Given the description of an element on the screen output the (x, y) to click on. 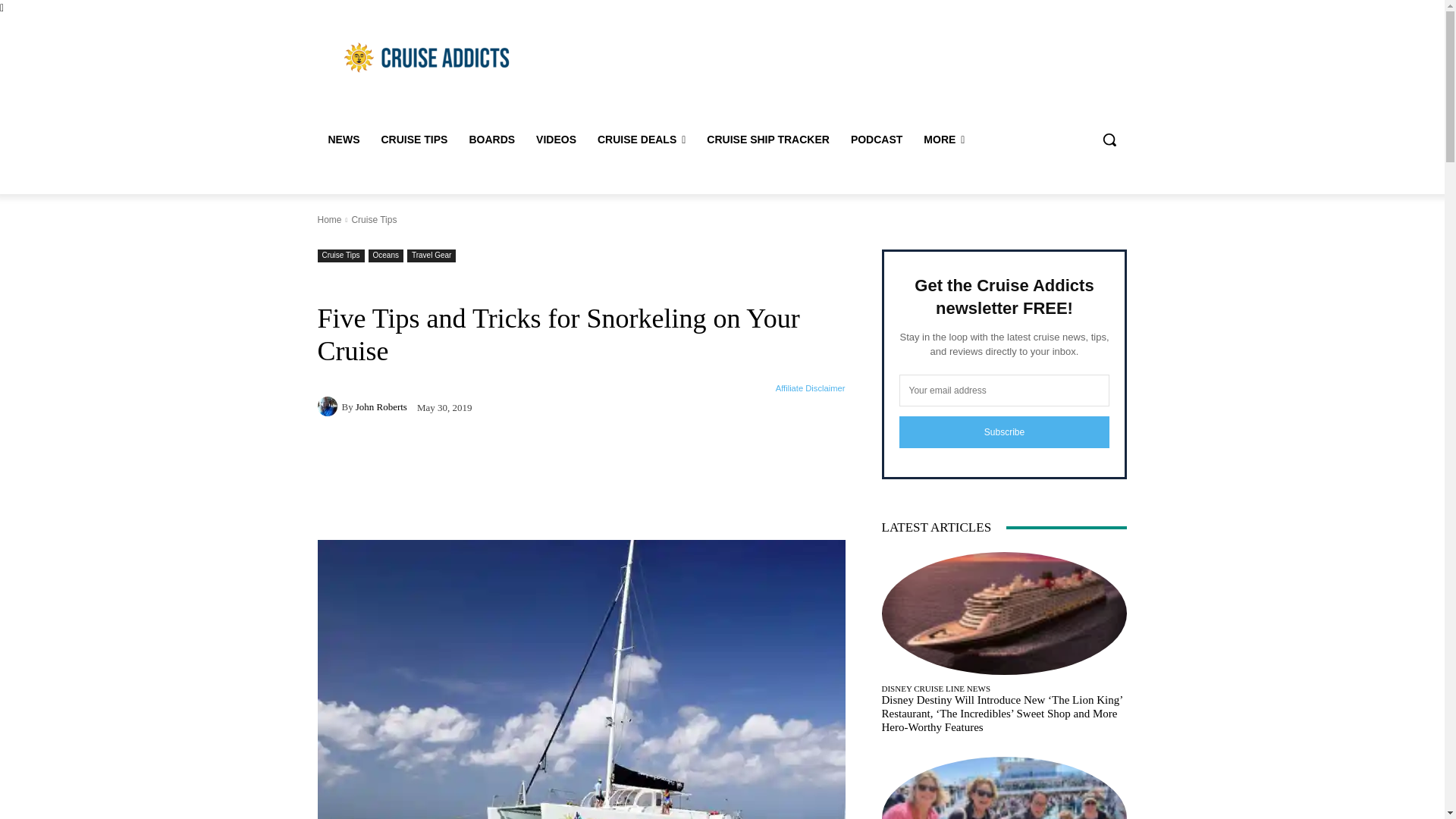
News (343, 139)
CRUISE TIPS (413, 139)
CRUISE DEALS (640, 139)
BOARDS (491, 139)
NEWS (343, 139)
Videos (555, 139)
Cruise Tips (413, 139)
VIDEOS (555, 139)
